Given the description of an element on the screen output the (x, y) to click on. 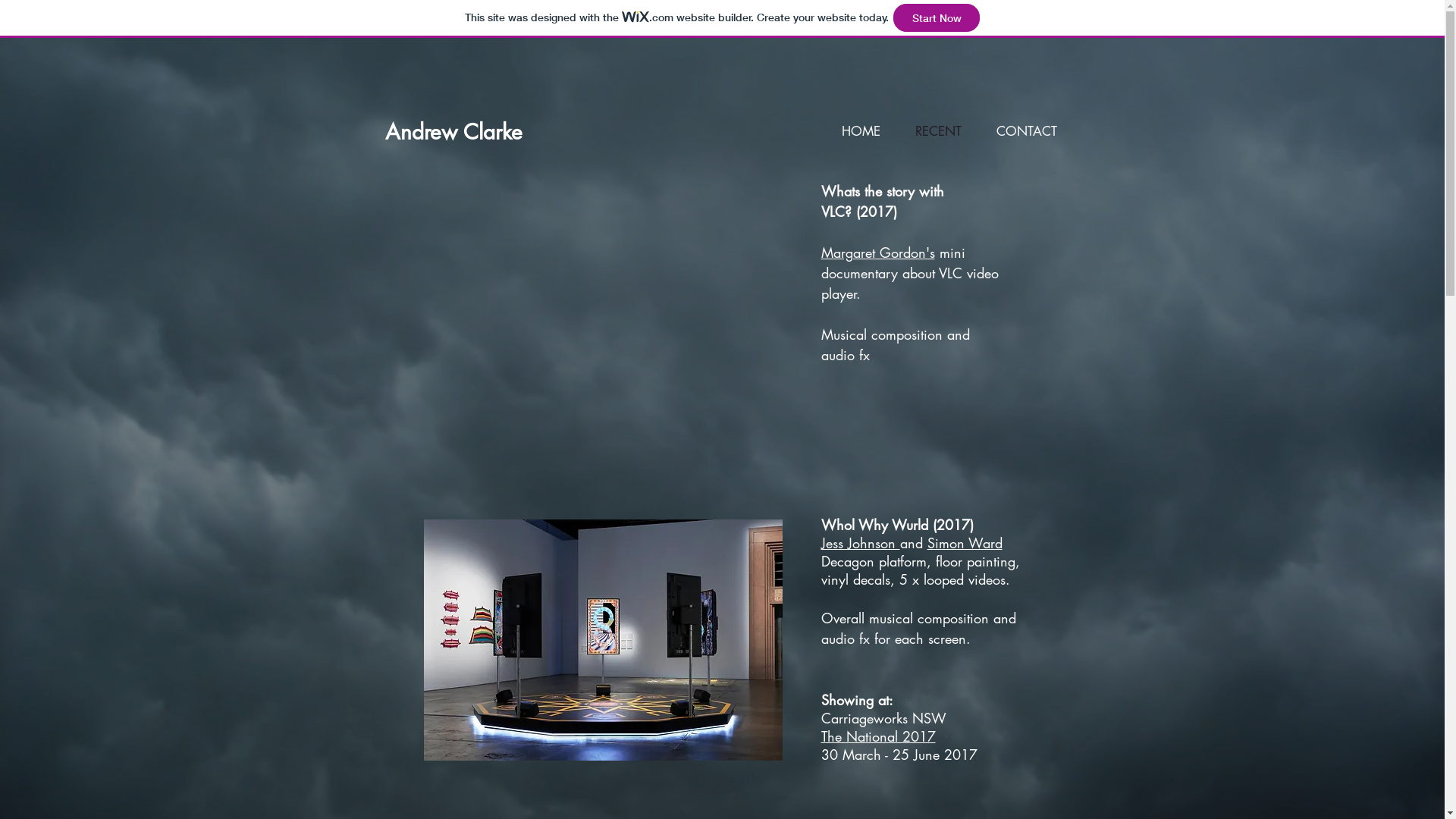
RECENT Element type: text (938, 131)
Andrew Clarke Element type: text (453, 131)
Margaret Gordon's Element type: text (877, 251)
Simon Ward Element type: text (963, 542)
External YouTube Element type: hover (602, 305)
CONTACT Element type: text (1025, 131)
Jess Johnson Element type: text (859, 542)
HOME Element type: text (860, 131)
The National 2017 Element type: text (877, 736)
